Given the description of an element on the screen output the (x, y) to click on. 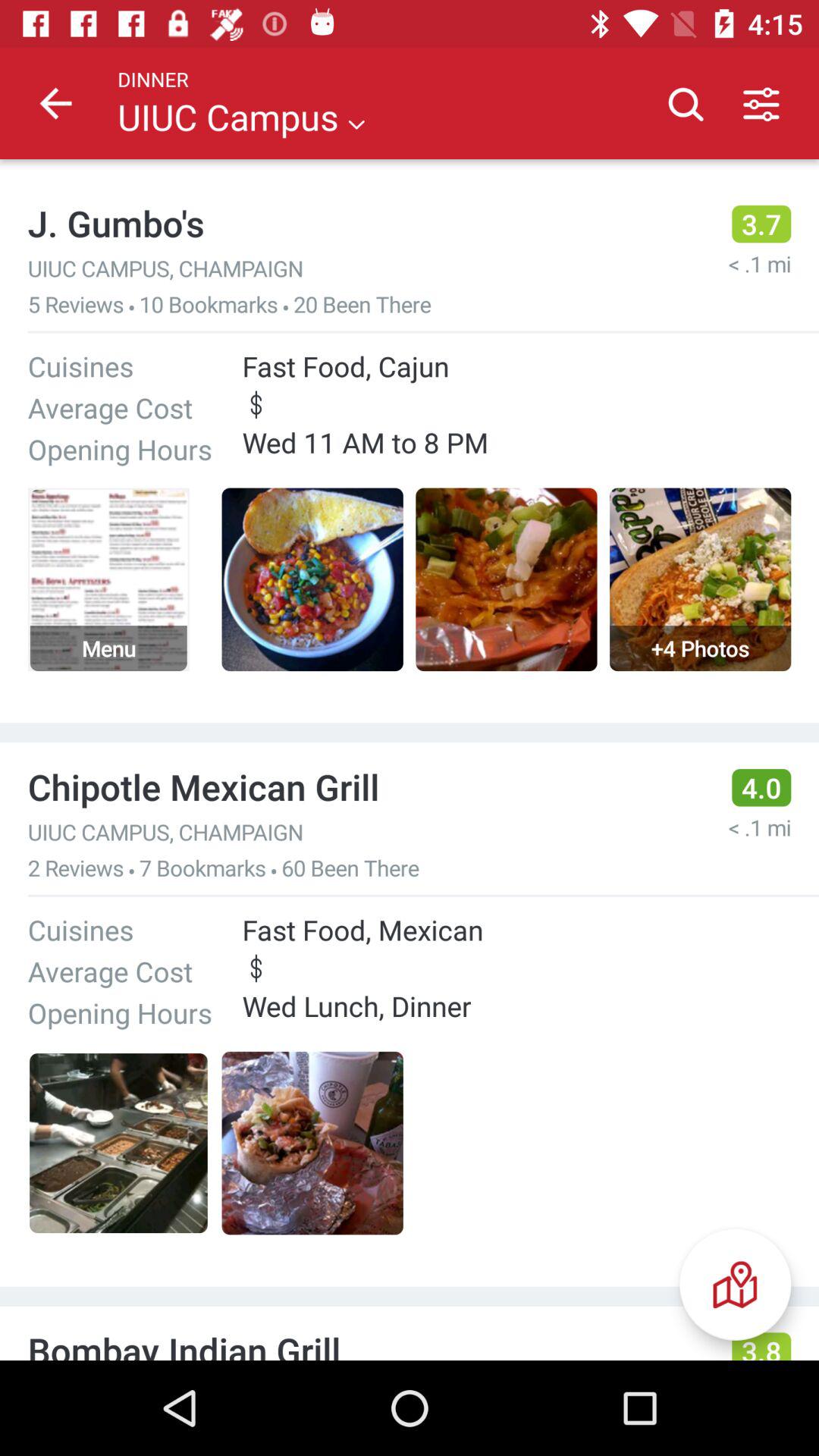
launch icon next to the dinner item (55, 103)
